Given the description of an element on the screen output the (x, y) to click on. 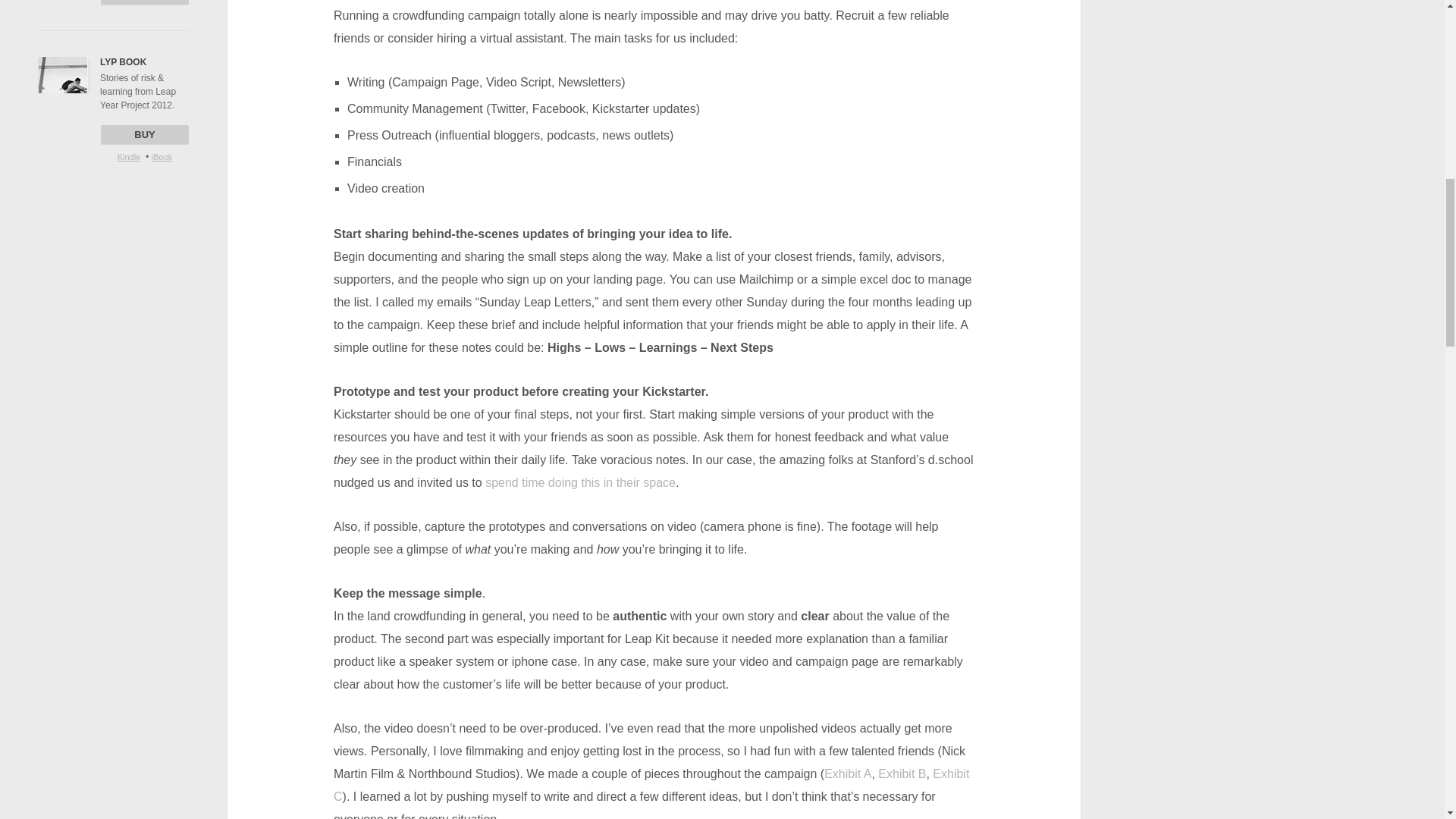
BUY (144, 134)
iBook (162, 156)
LYP BOOK (123, 61)
ORDER (144, 2)
Exhibit B (901, 773)
Kindle (129, 156)
Exhibit C (651, 785)
spend time doing this in their space (579, 481)
Exhibit A (847, 773)
